Given the description of an element on the screen output the (x, y) to click on. 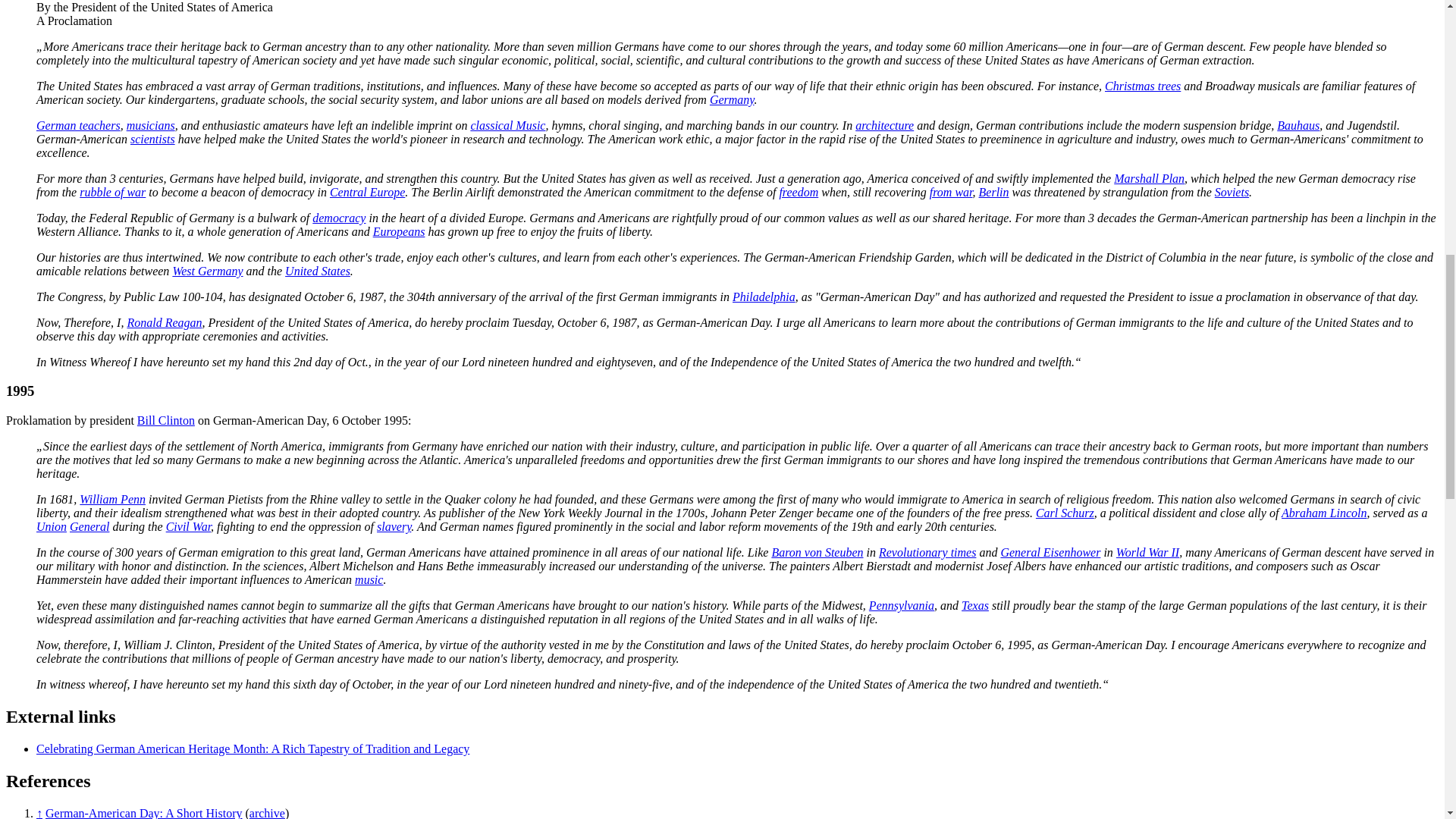
classical Music (507, 124)
Christmas trees (1142, 85)
German teachers (78, 124)
Germany (732, 99)
musicians (150, 124)
